Given the description of an element on the screen output the (x, y) to click on. 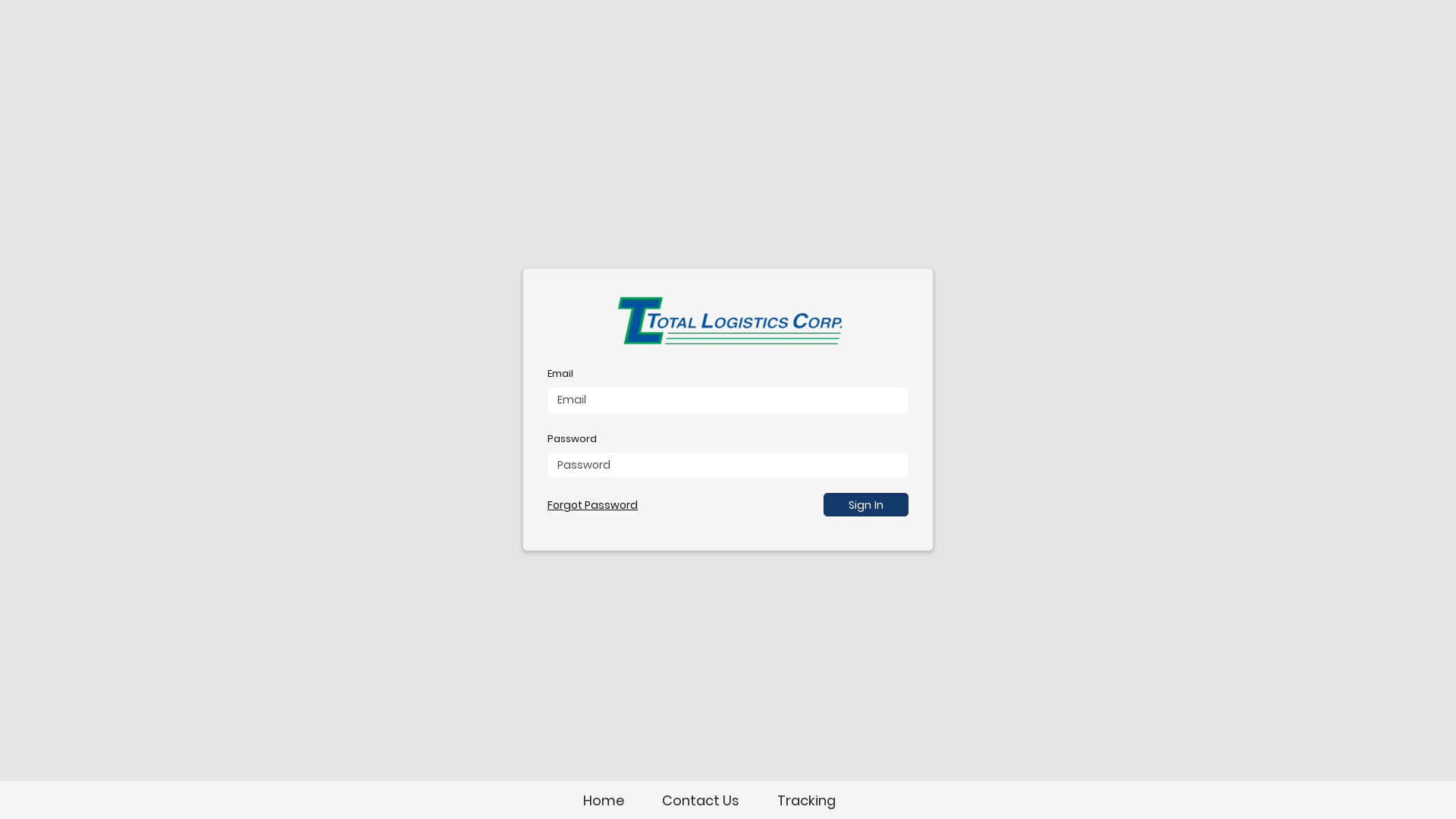
Contact Us Element type: text (699, 799)
Sign In Element type: text (865, 504)
Tracking Element type: text (805, 799)
Home Element type: text (602, 799)
Forgot Password Element type: text (592, 504)
